Given the description of an element on the screen output the (x, y) to click on. 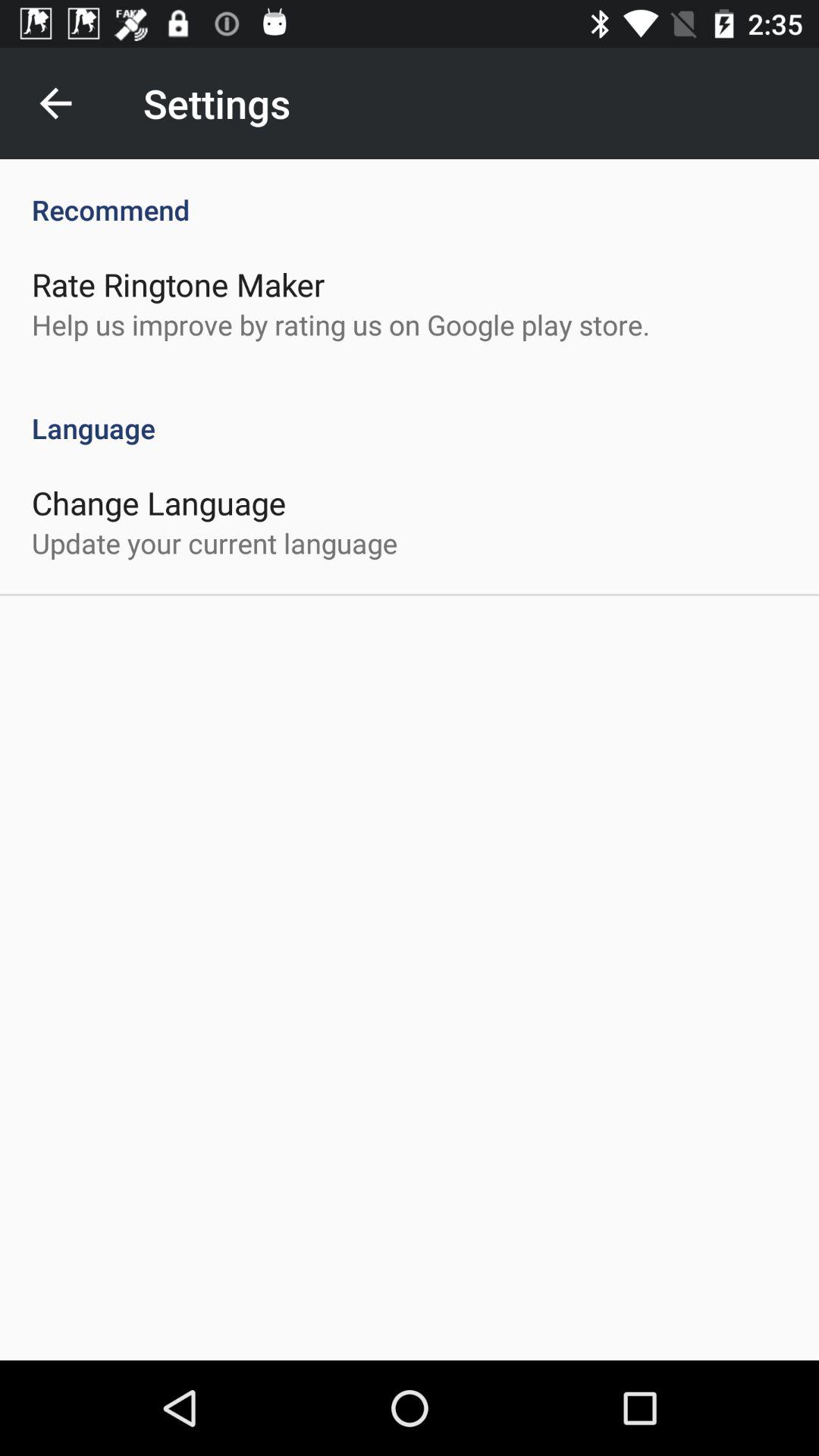
click icon below change language icon (214, 542)
